Given the description of an element on the screen output the (x, y) to click on. 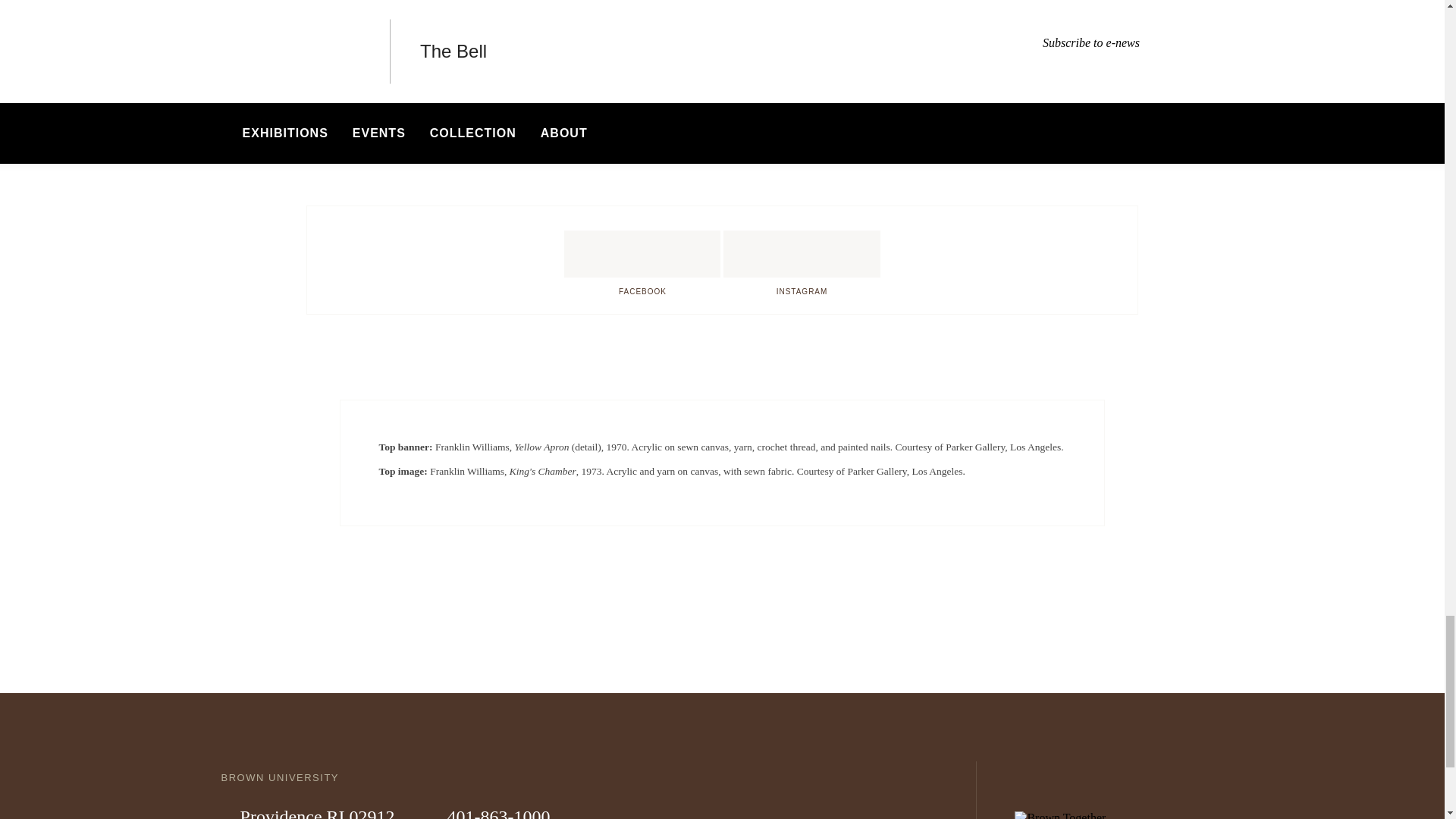
FACEBOOK (642, 253)
INSTAGRAM (801, 253)
Find on Google Maps (457, 4)
Providence RI 02912 (307, 812)
401-863-1000 (489, 812)
